Given the description of an element on the screen output the (x, y) to click on. 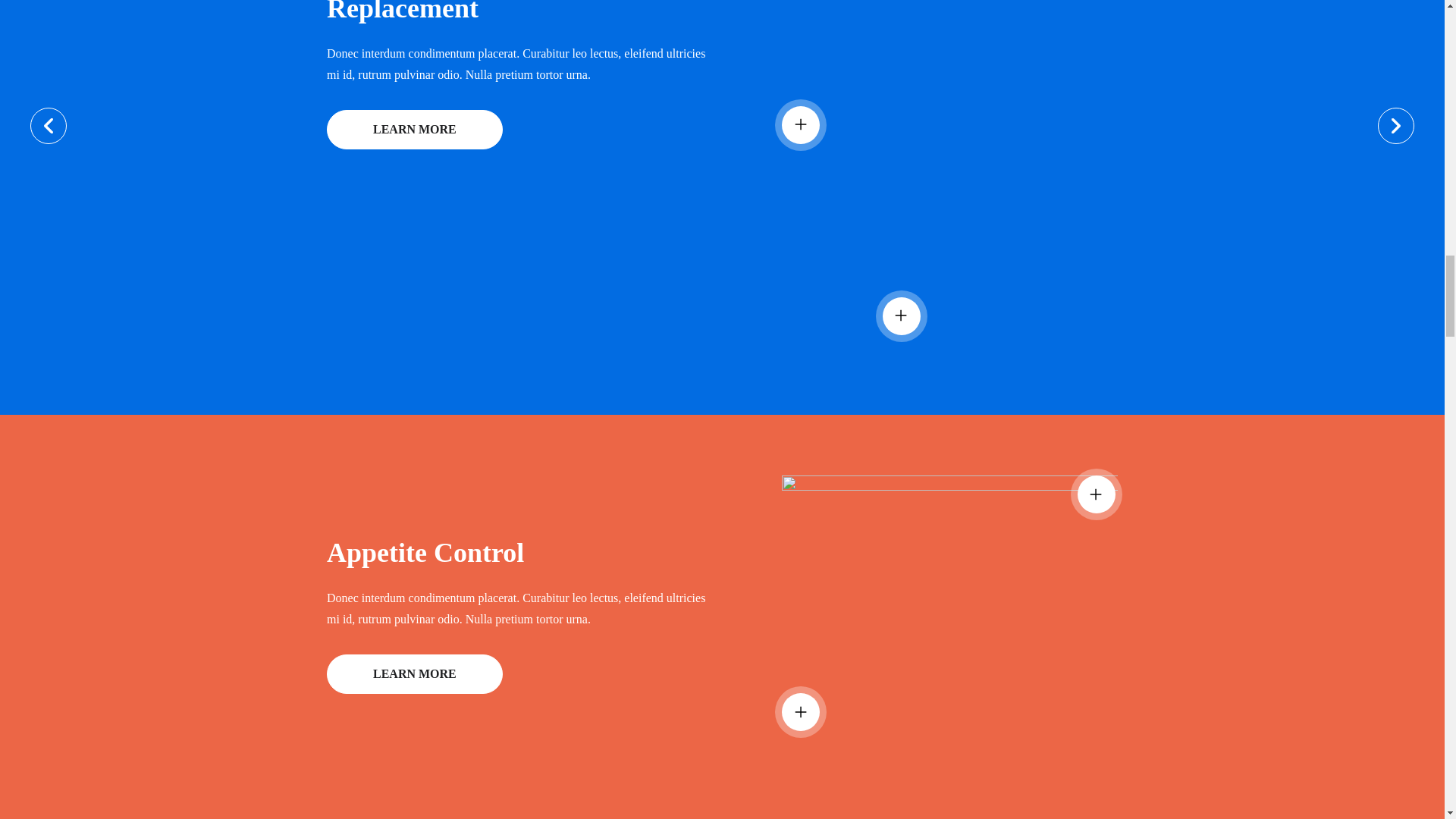
LEARN MORE (414, 673)
LEARN MORE (414, 129)
